Given the description of an element on the screen output the (x, y) to click on. 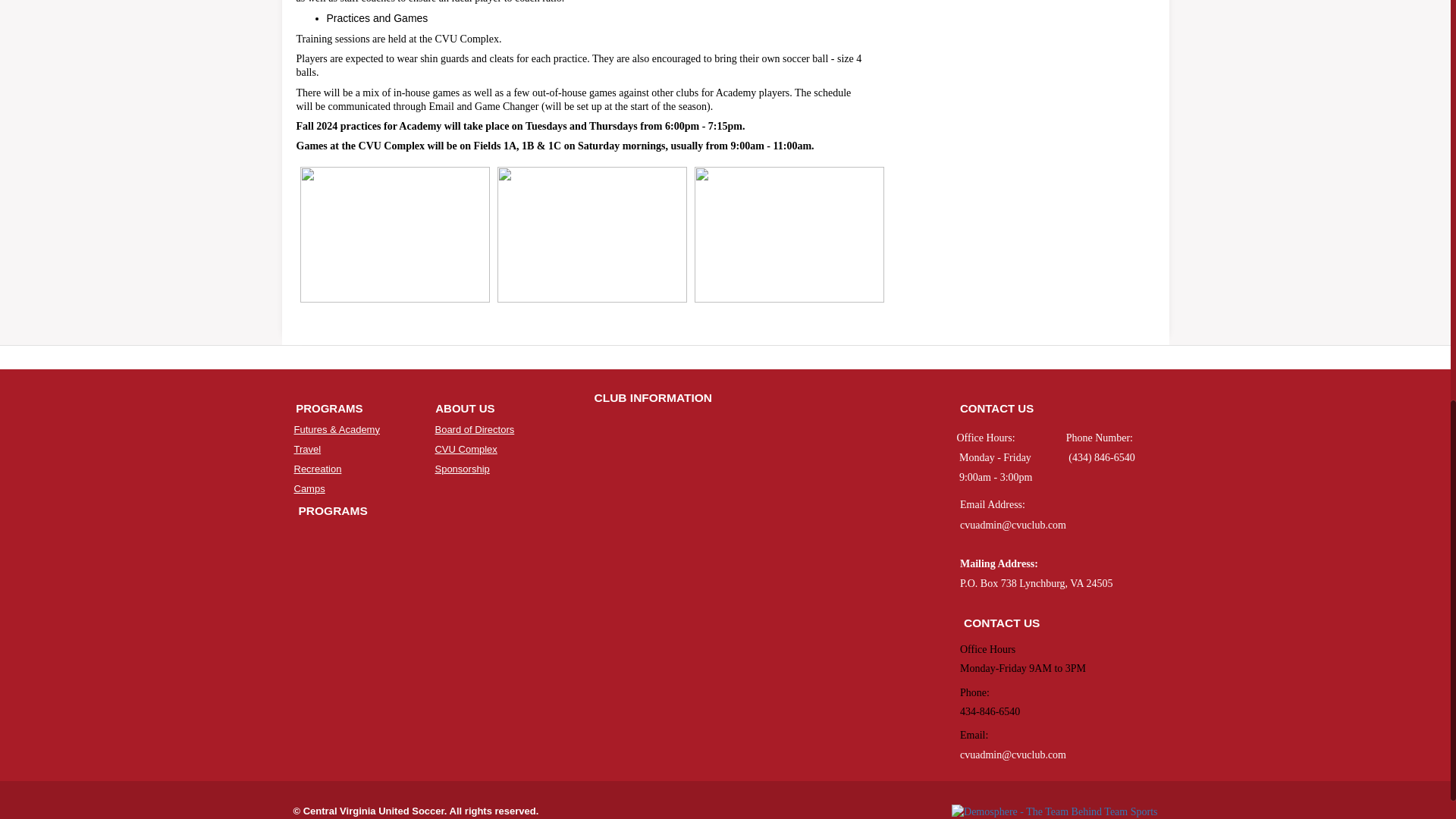
CVU Complex (464, 449)
Recreation (318, 469)
Sponsorship (461, 469)
Camps (309, 488)
Board of Directors (473, 429)
Travel (307, 449)
